Given the description of an element on the screen output the (x, y) to click on. 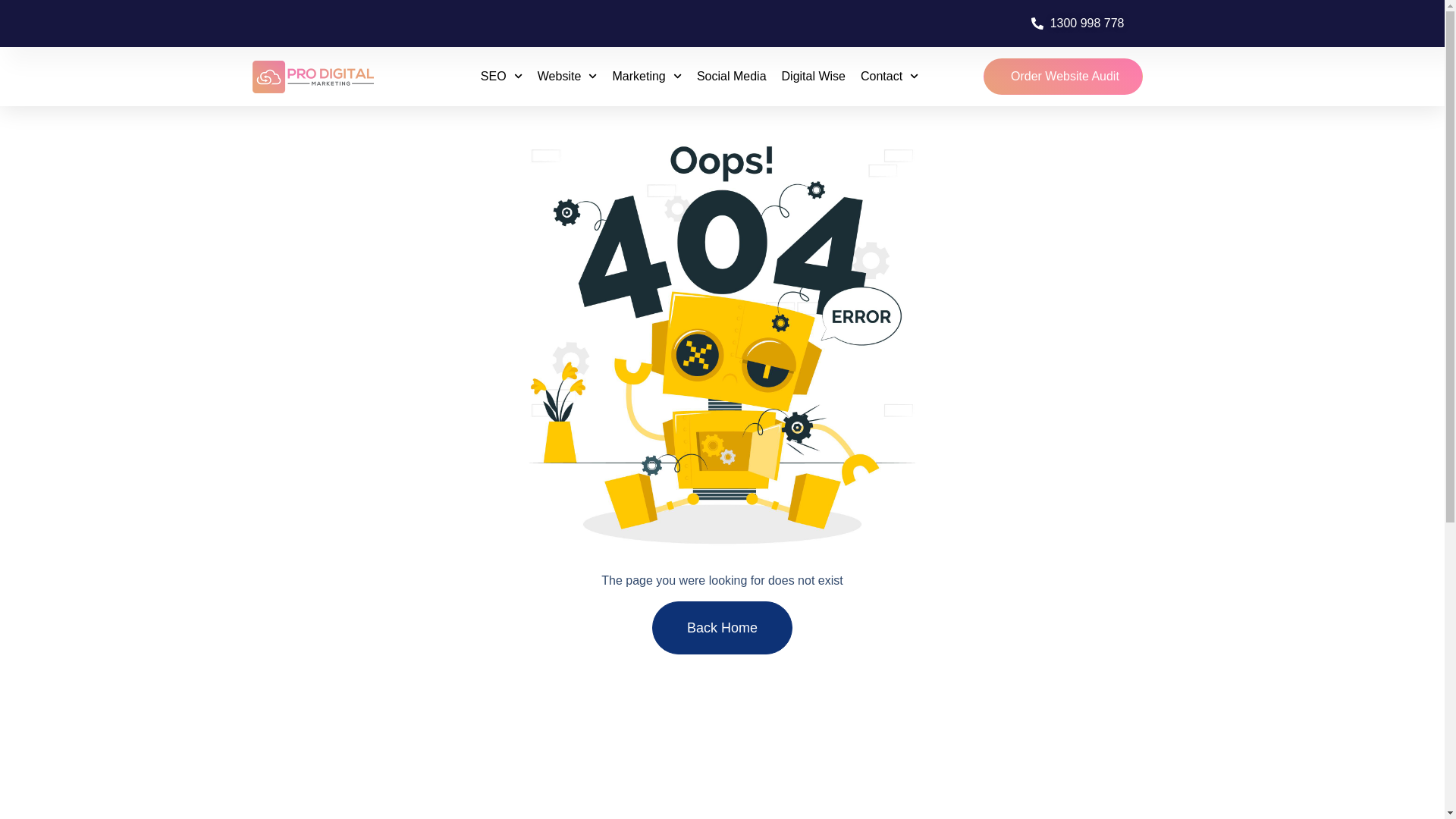
1300 998 778 (1077, 23)
SEO (501, 76)
Contact (889, 76)
Digital Wise (813, 76)
Website (566, 76)
Social Media (732, 76)
Marketing (646, 76)
